Given the description of an element on the screen output the (x, y) to click on. 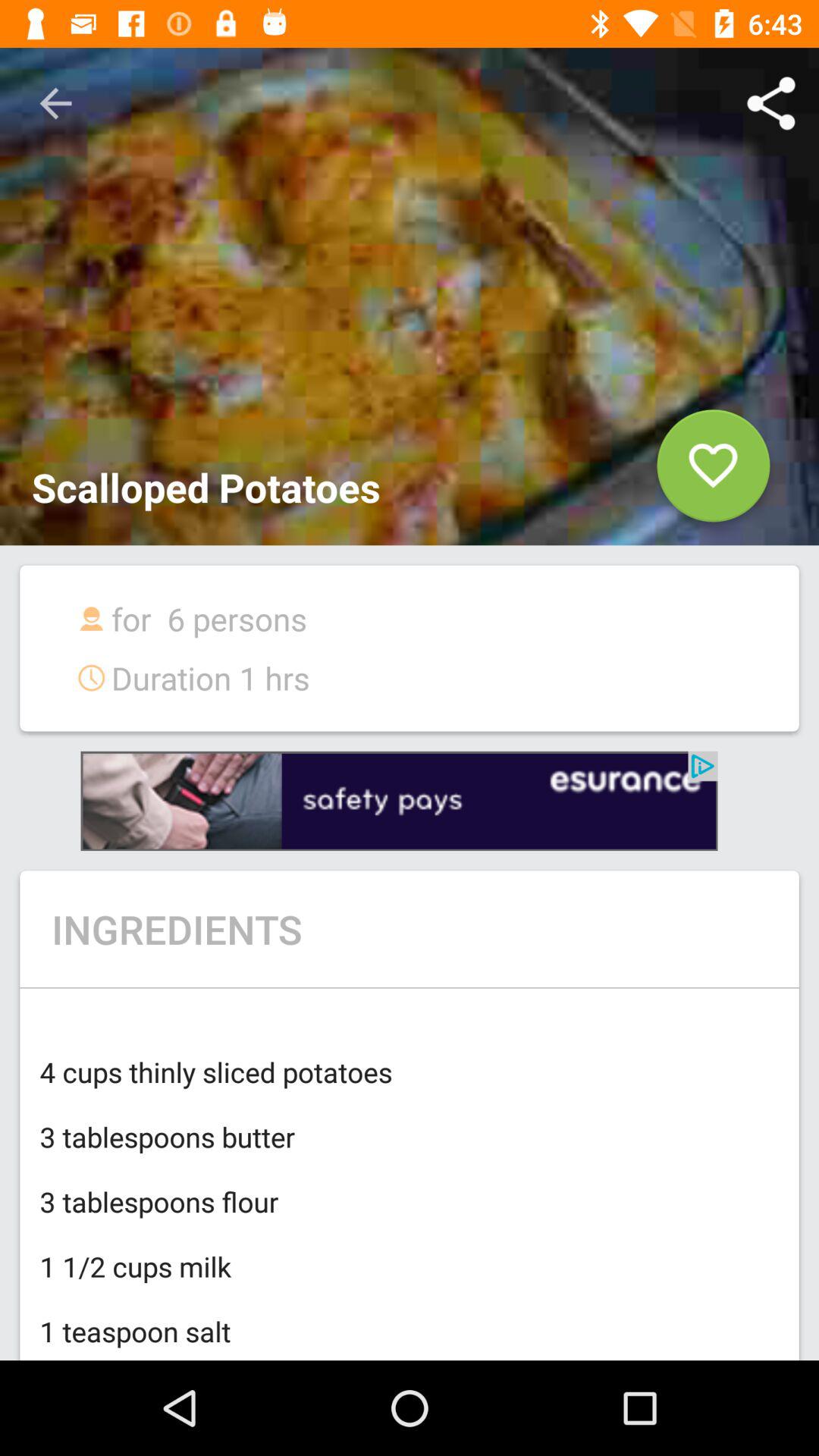
like this recipe (713, 471)
